Given the description of an element on the screen output the (x, y) to click on. 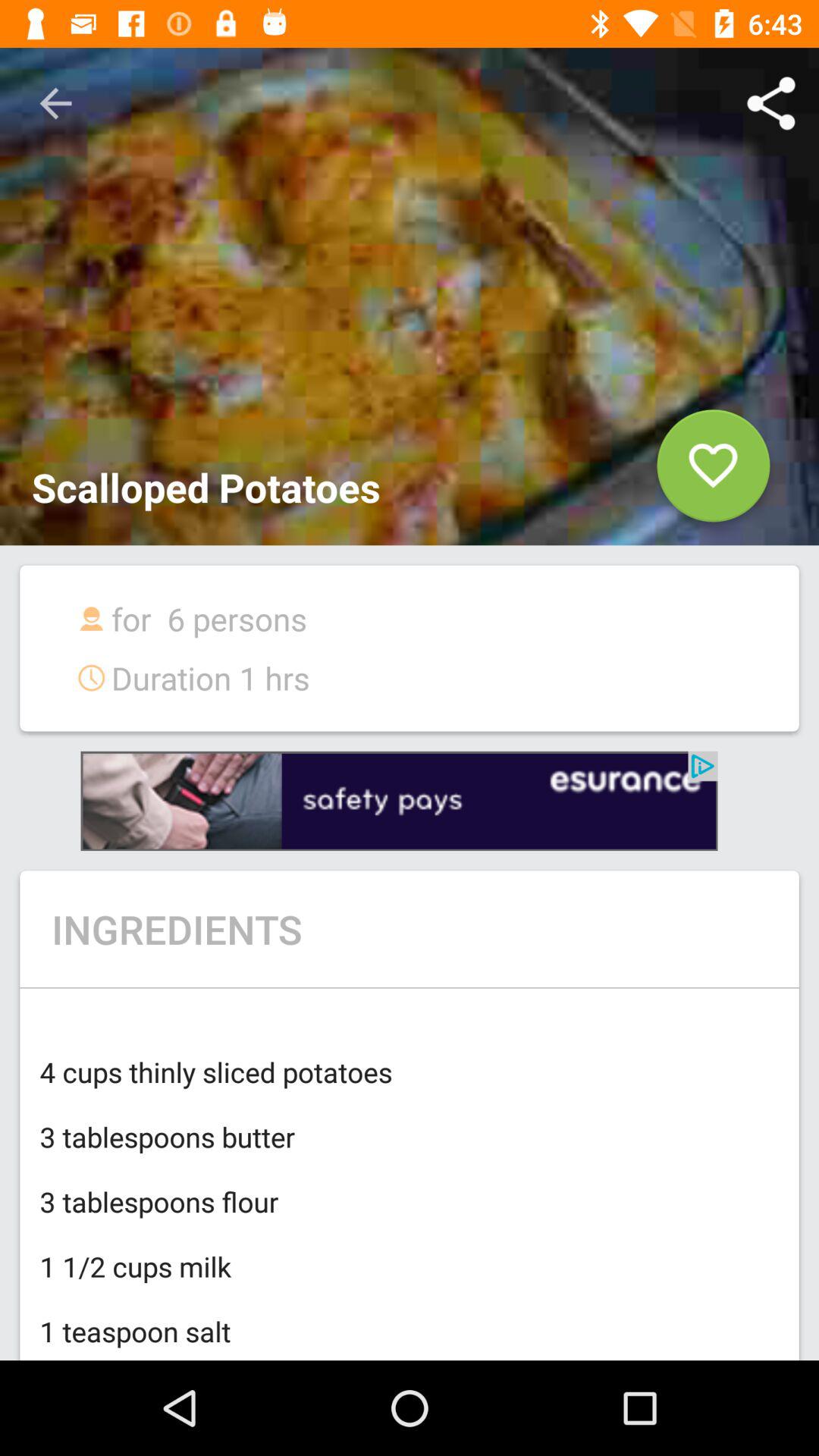
like this recipe (713, 471)
